Given the description of an element on the screen output the (x, y) to click on. 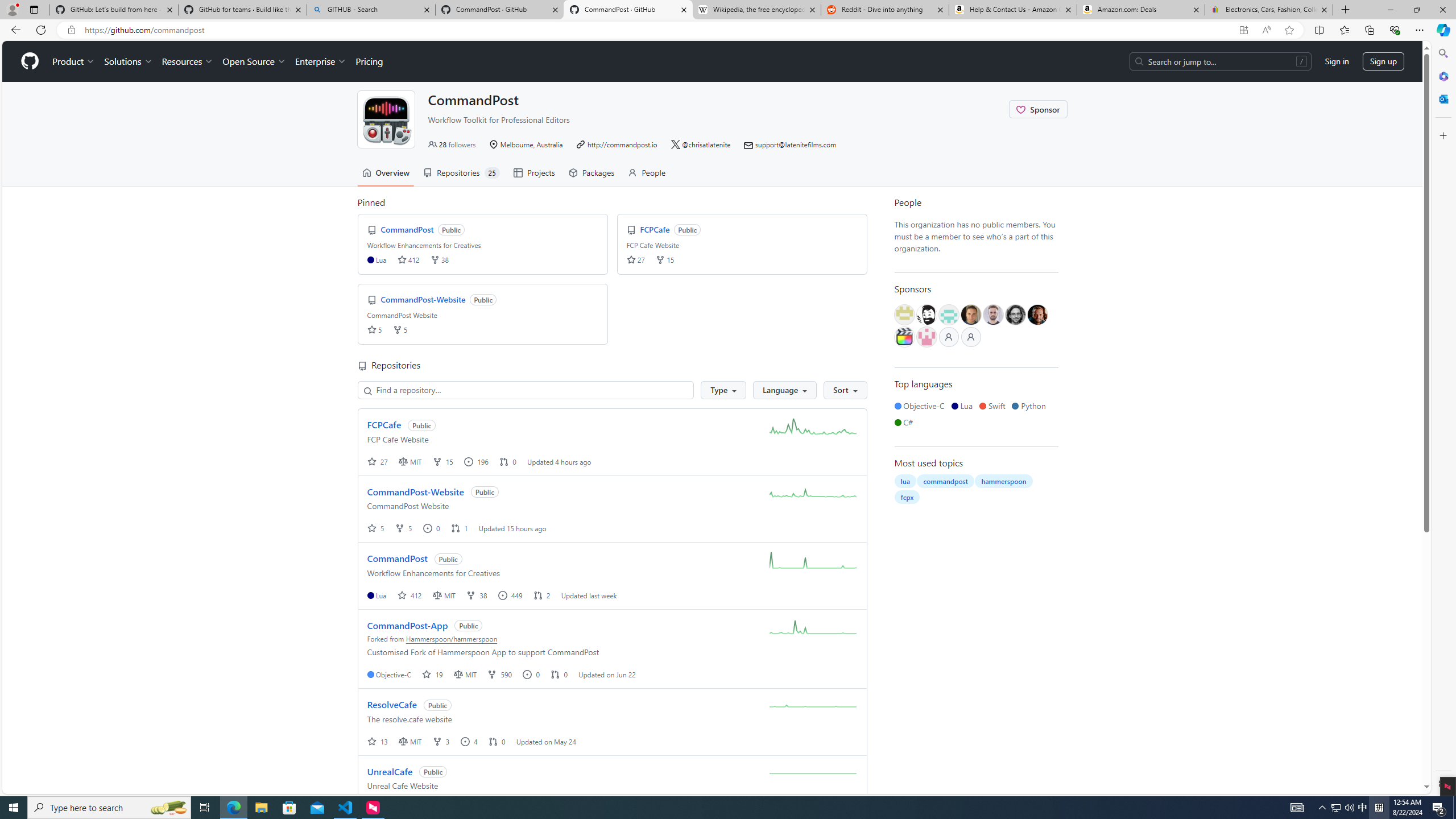
Open Source (254, 60)
@MarcosCastiel (949, 314)
http://commandpost.io (622, 144)
Objective-C (921, 405)
Product (74, 60)
@elzotto (903, 336)
Private Sponsor (970, 336)
Sign up (1382, 61)
Projects (533, 172)
